Given the description of an element on the screen output the (x, y) to click on. 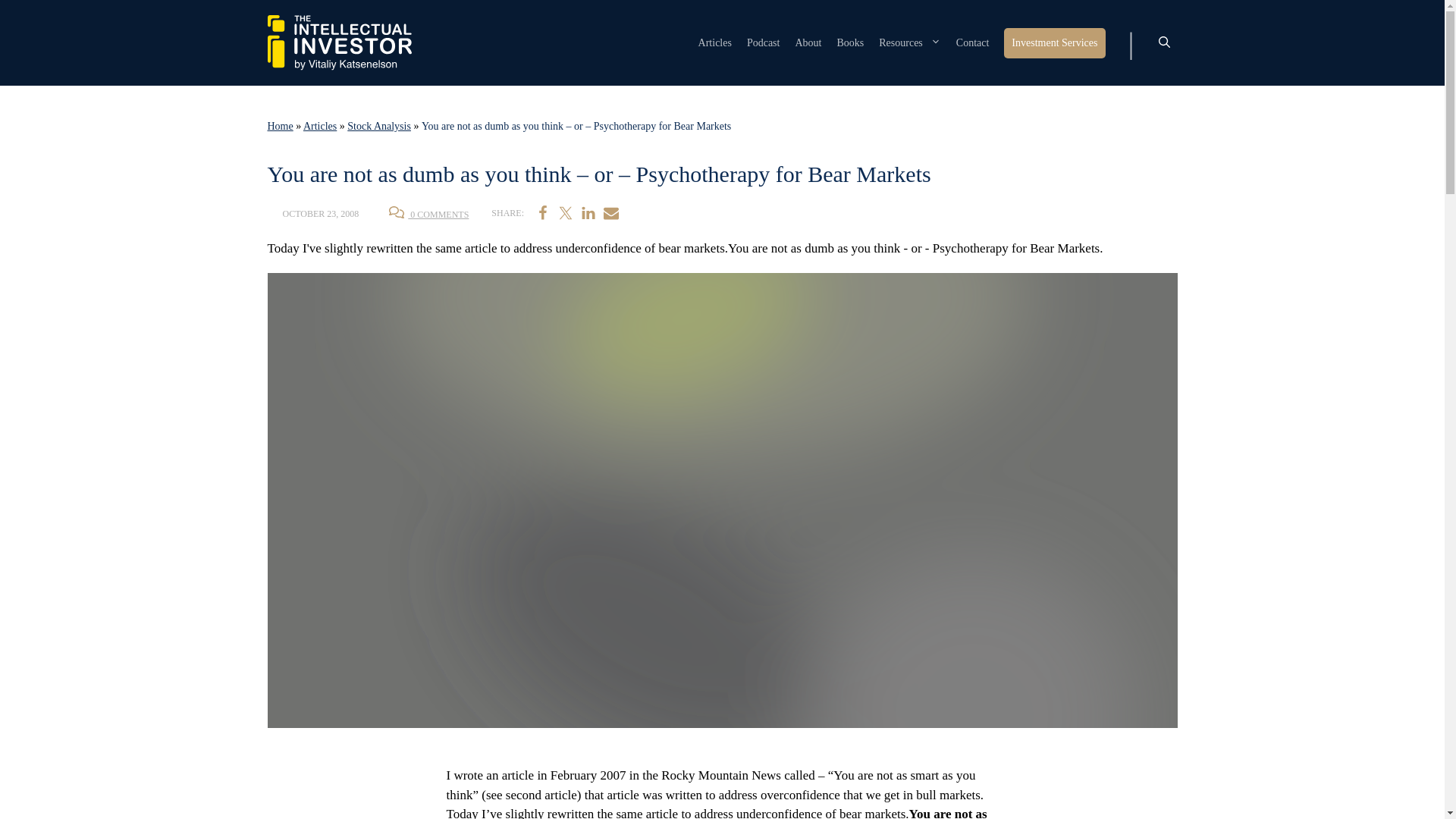
Investment Services (1054, 42)
Share on Facebook (542, 212)
Home (279, 125)
Resources (909, 42)
Articles (715, 42)
0 COMMENTS (428, 214)
Articles (319, 125)
Stock Analysis (378, 125)
Share on LinkedIn (587, 212)
Contact (973, 42)
